Given the description of an element on the screen output the (x, y) to click on. 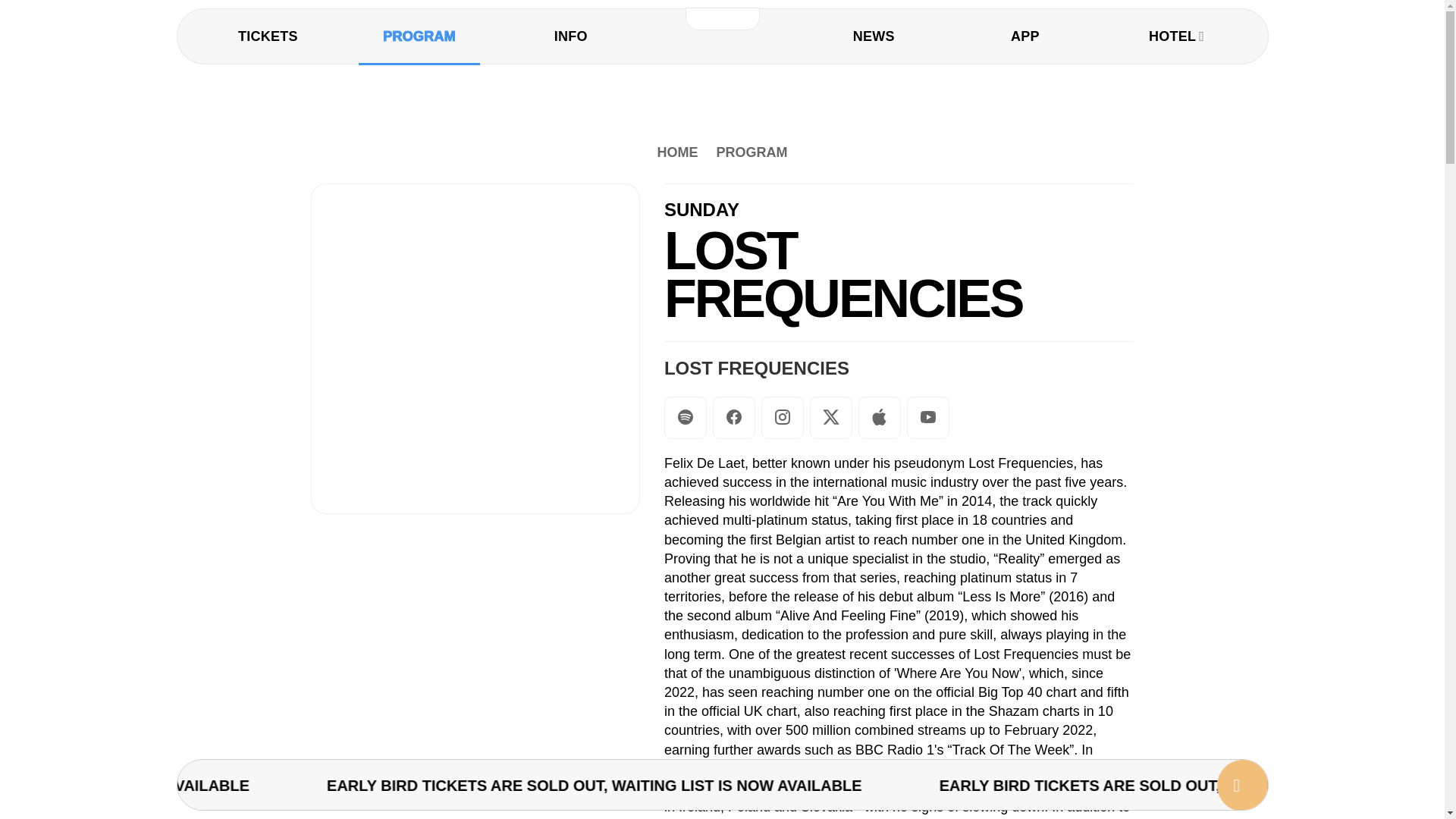
PROGRAM (751, 152)
HOME (676, 152)
PROGRAM (419, 36)
APP (1024, 36)
TICKETS (267, 36)
INFO (570, 36)
NEWS (873, 36)
